Given the description of an element on the screen output the (x, y) to click on. 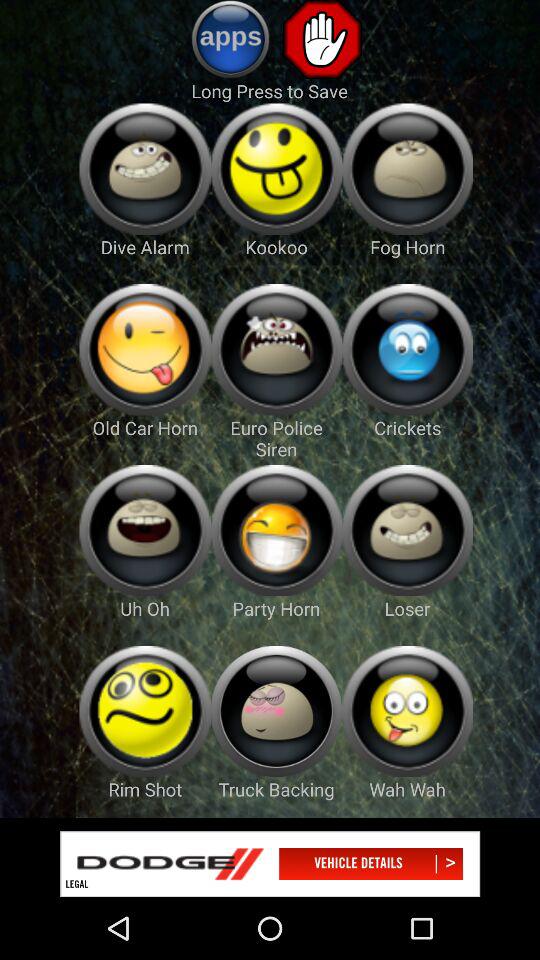
toggle ringtones (276, 168)
